Given the description of an element on the screen output the (x, y) to click on. 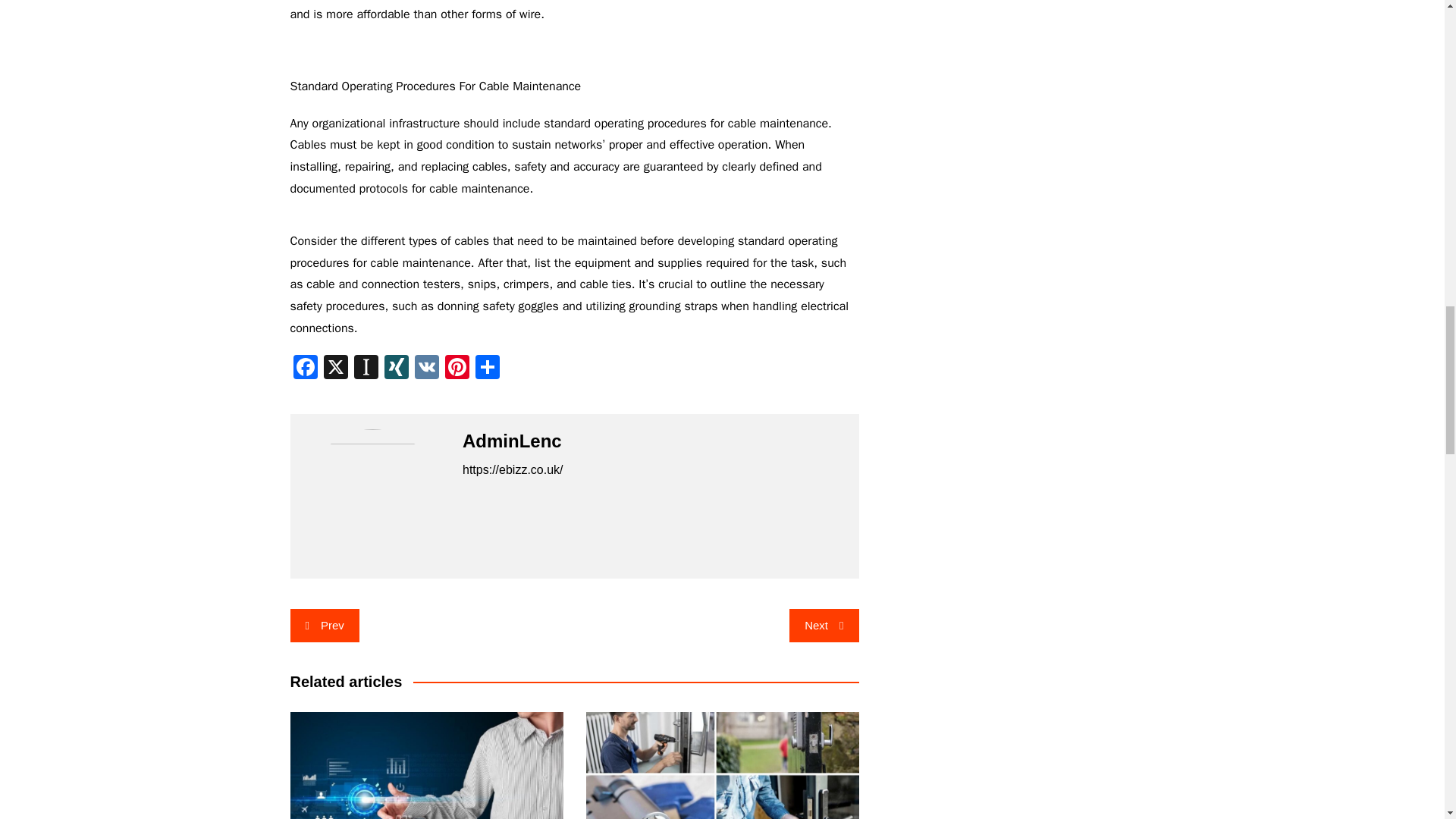
VK (425, 369)
Facebook (304, 369)
Pinterest (456, 369)
Instapaper (365, 369)
X (335, 369)
XING (395, 369)
